Given the description of an element on the screen output the (x, y) to click on. 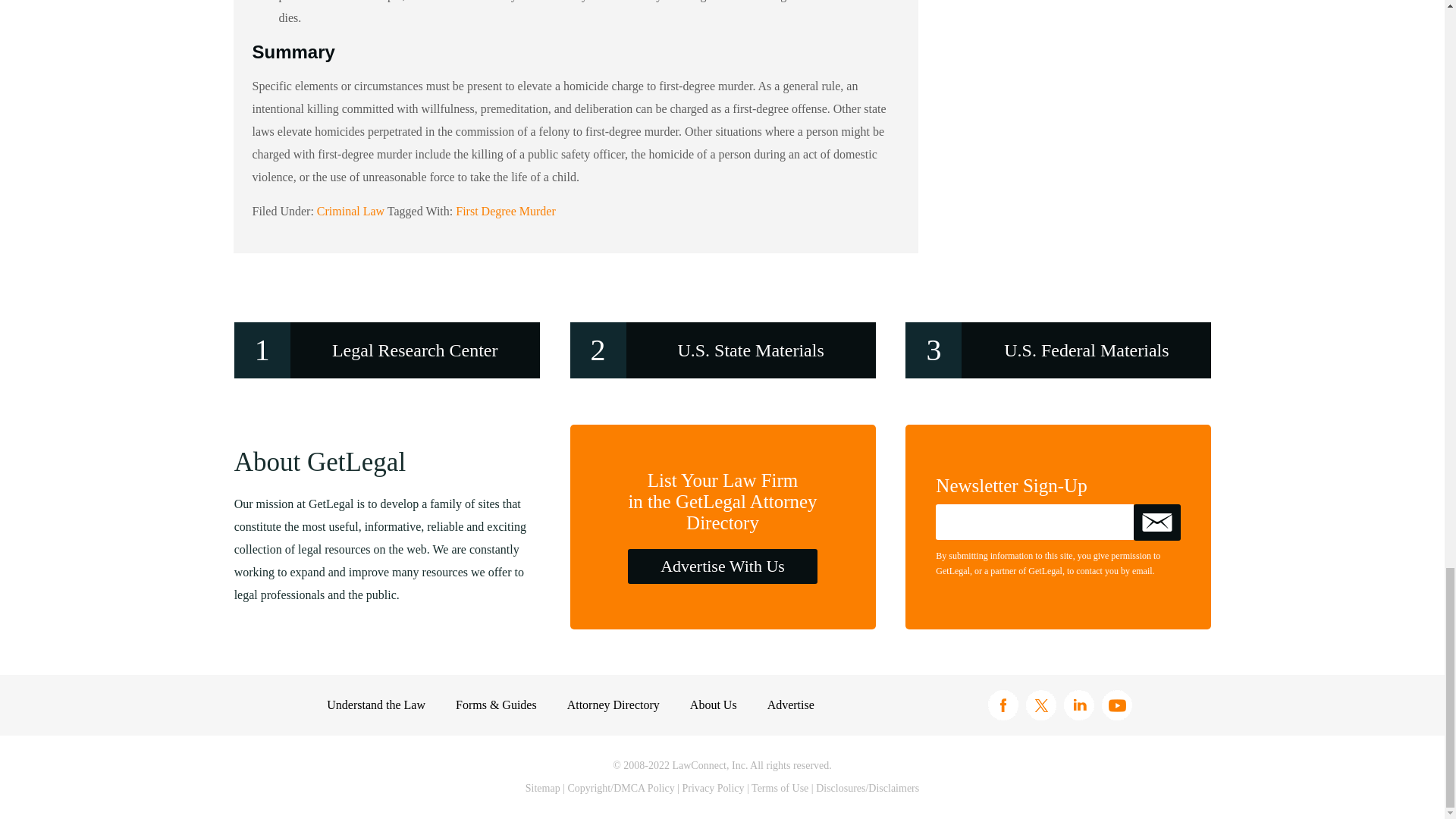
Subscribe! (1157, 522)
Criminal Law (350, 210)
Legal Research Center (387, 350)
First Degree Murder (505, 210)
